Given the description of an element on the screen output the (x, y) to click on. 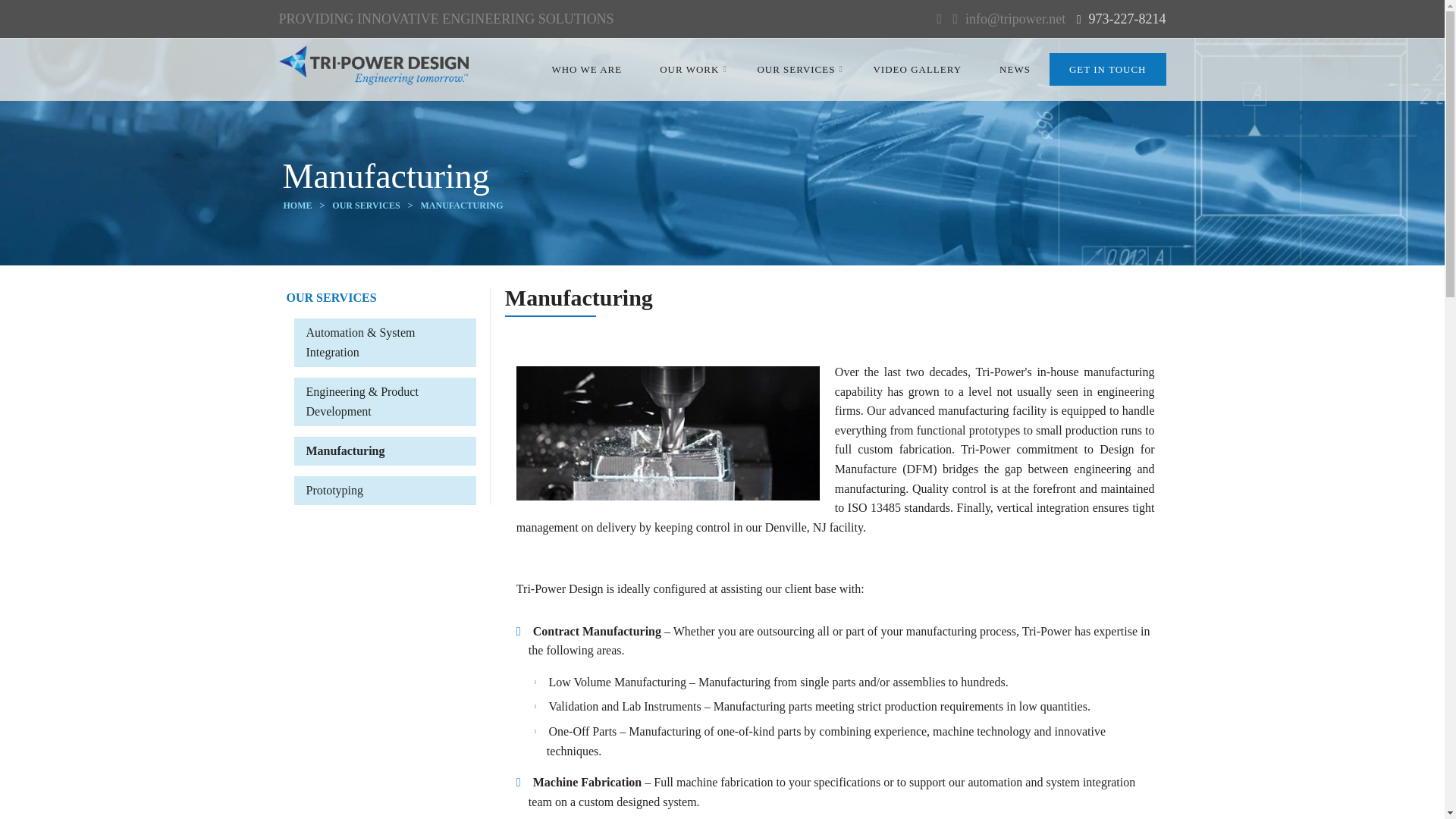
OUR WORK (689, 68)
973-227-8214 (1127, 18)
OUR SERVICES (364, 204)
HOME (298, 204)
Prototyping (334, 490)
WHO WE ARE (586, 68)
TRI-POWER DESIGN (373, 67)
OUR SERVICES (331, 297)
OUR SERVICES (795, 68)
GET IN TOUCH (1107, 69)
